Given the description of an element on the screen output the (x, y) to click on. 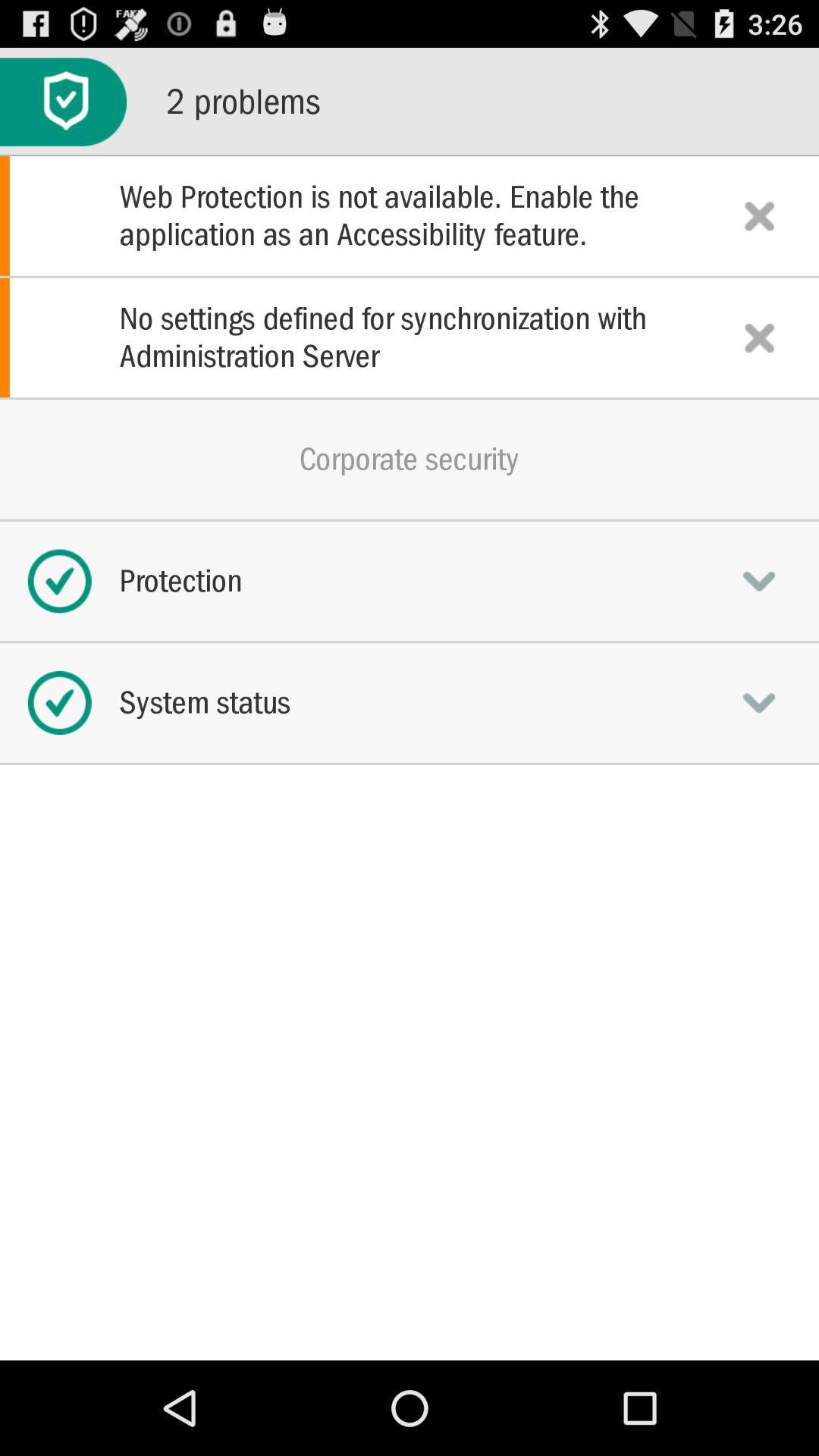
click the yes option (759, 580)
